Given the description of an element on the screen output the (x, y) to click on. 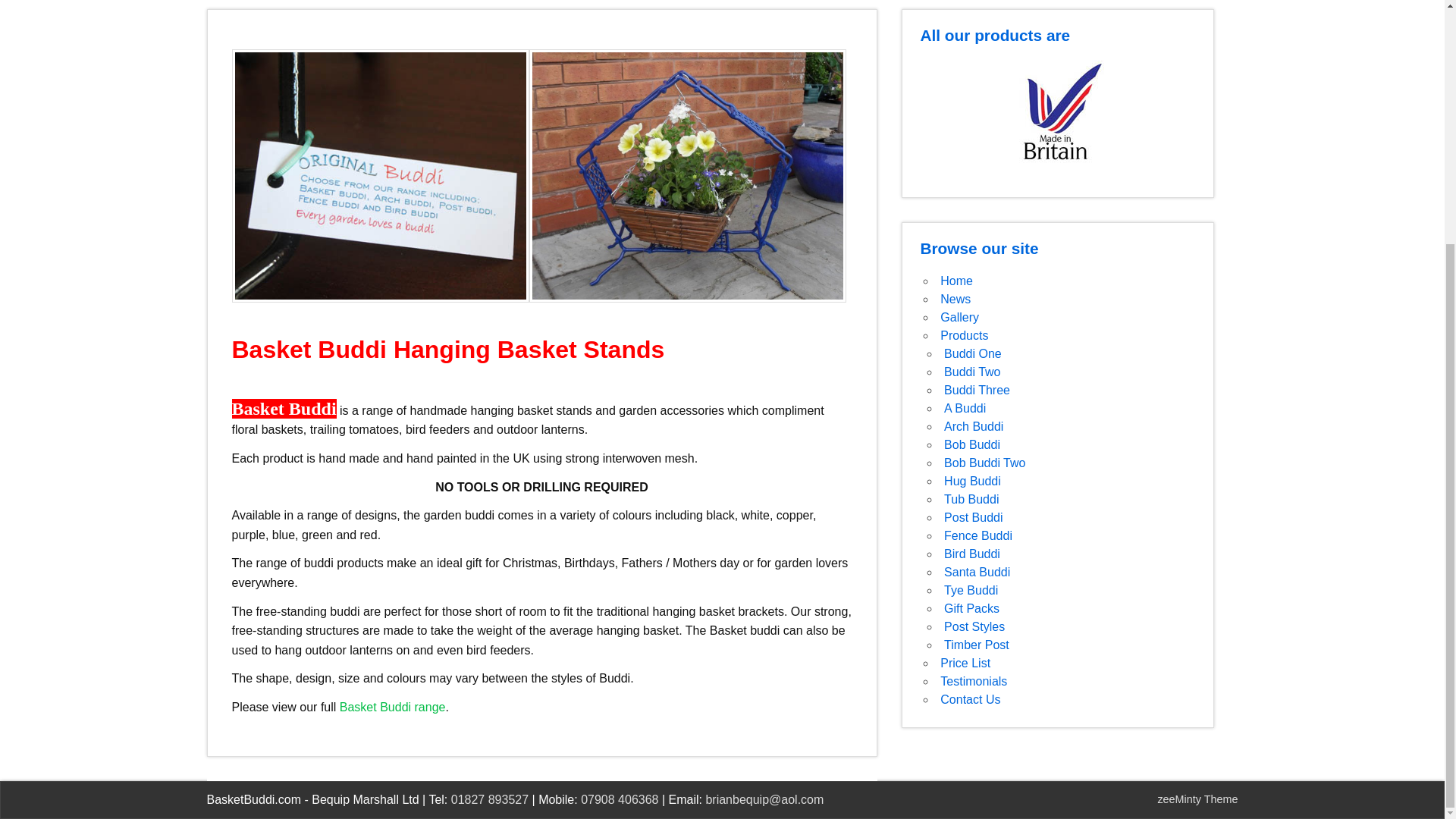
Buddi One (972, 353)
Buddi Two (971, 371)
Buddi Three (976, 390)
Home (956, 280)
Products (964, 335)
Arch Buddi (973, 426)
A Buddi (964, 408)
Gallery (959, 317)
All products Made in Britain (1058, 116)
Bob Buddi (971, 444)
Basket Buddi range (392, 707)
Bob Buddi Two (984, 462)
News (955, 298)
